Given the description of an element on the screen output the (x, y) to click on. 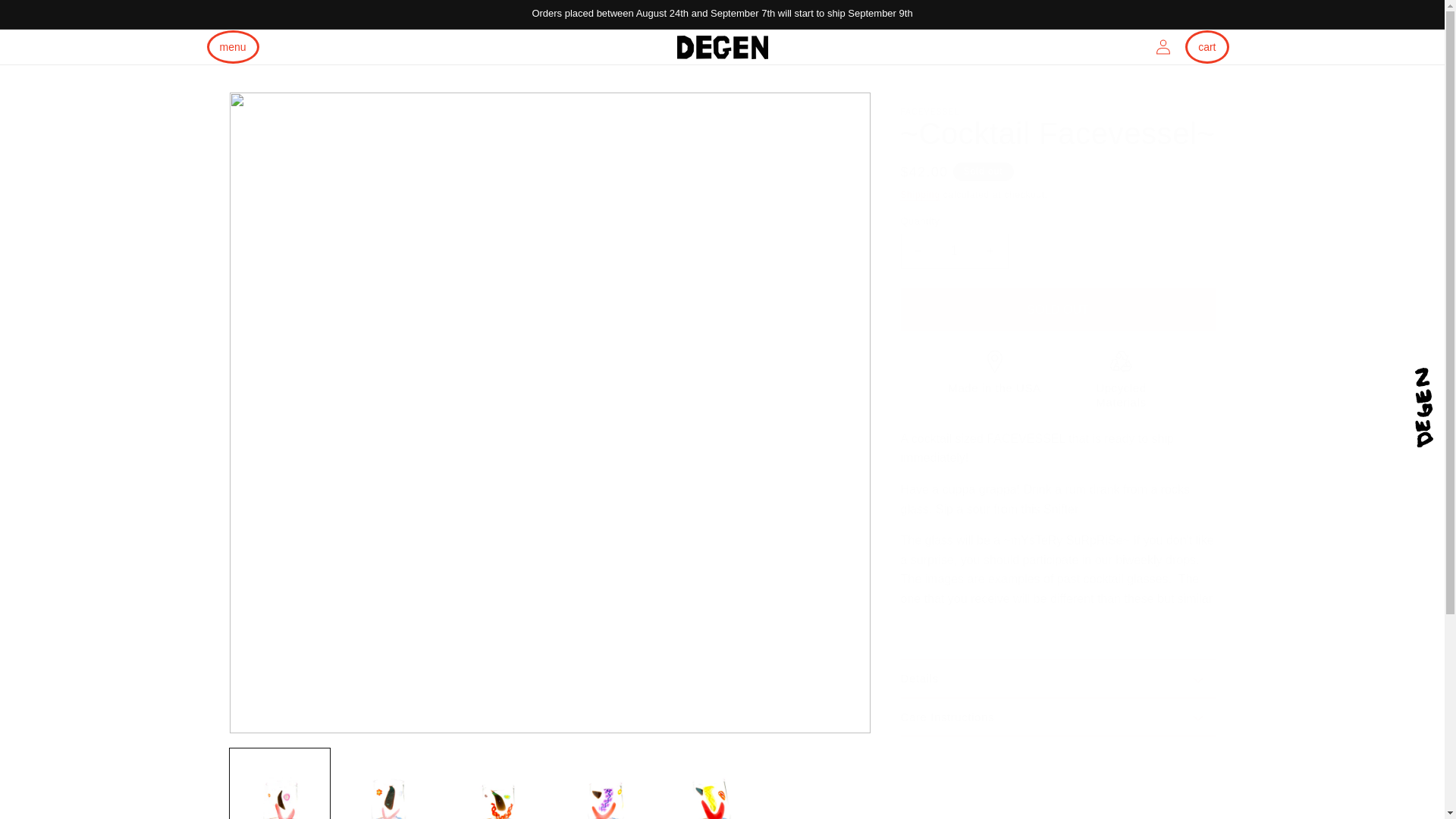
Log in (1163, 46)
Shipping (920, 194)
SKIP TO PRODUCT INFORMATION (274, 113)
1 (955, 251)
cart (1206, 46)
SKIP TO CONTENT (45, 21)
SOLD OUT (1058, 309)
